Given the description of an element on the screen output the (x, y) to click on. 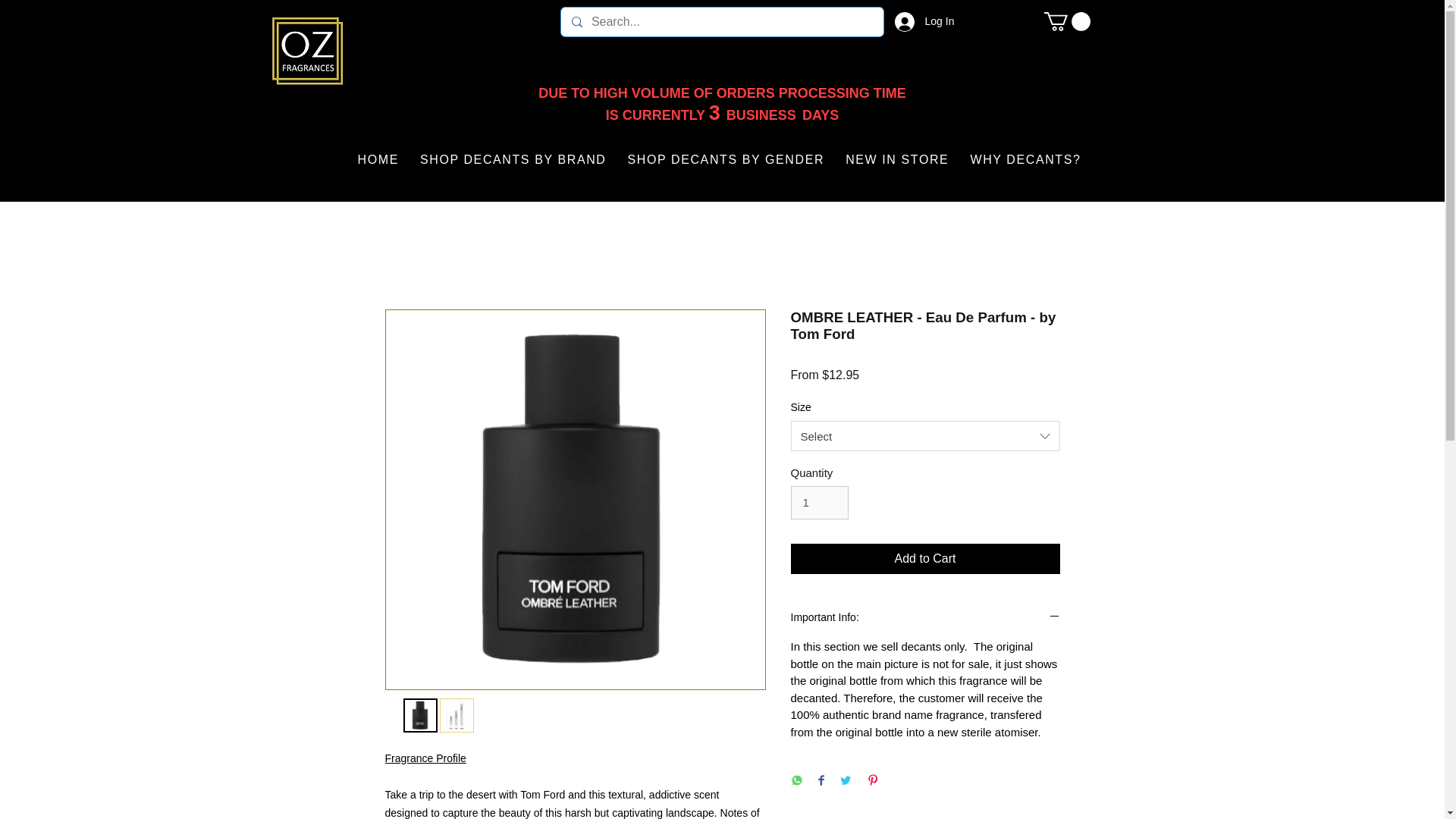
HOME (377, 159)
1 (818, 502)
Log In (915, 21)
